Given the description of an element on the screen output the (x, y) to click on. 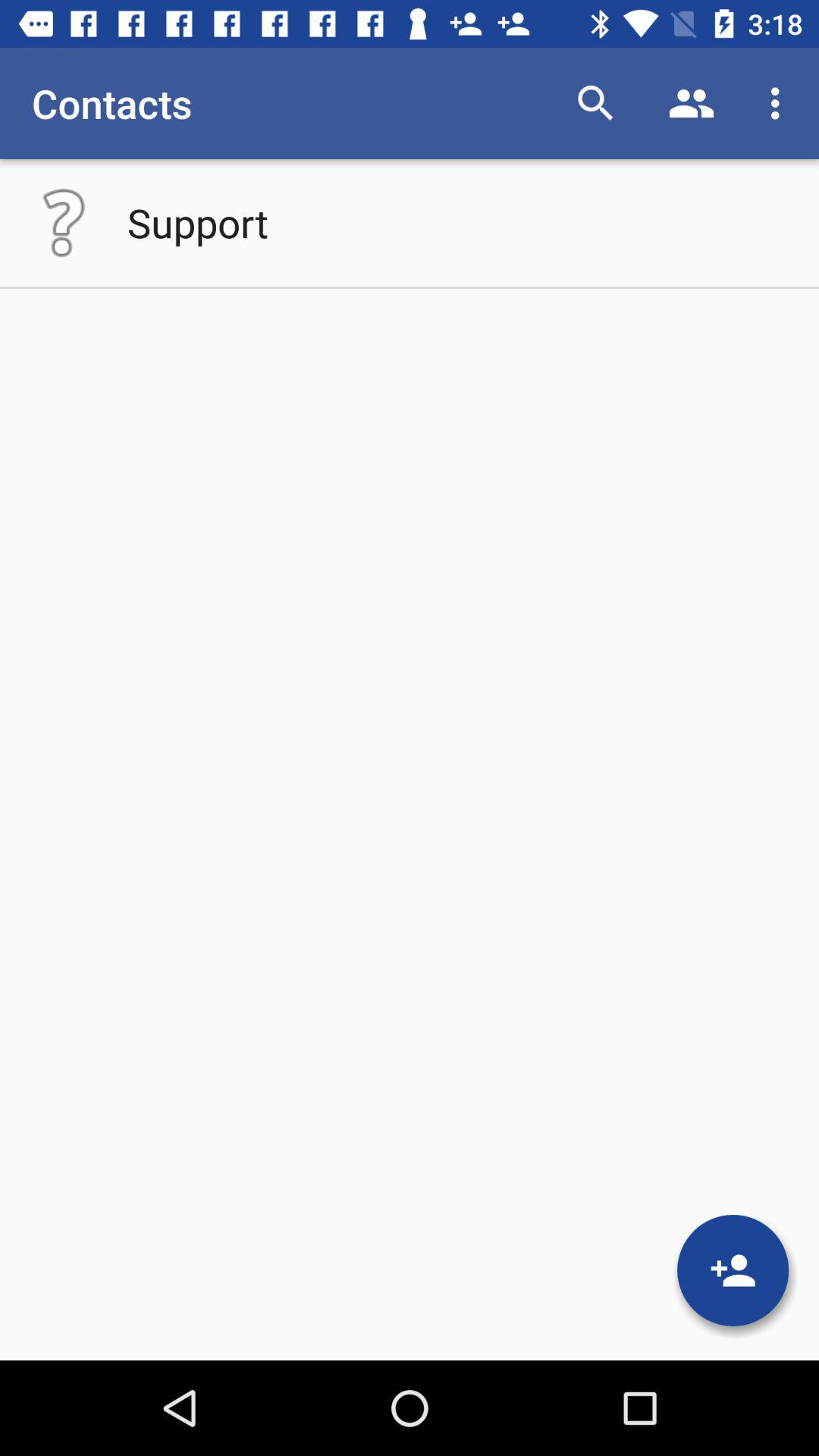
select app to the right of the contacts icon (595, 103)
